Given the description of an element on the screen output the (x, y) to click on. 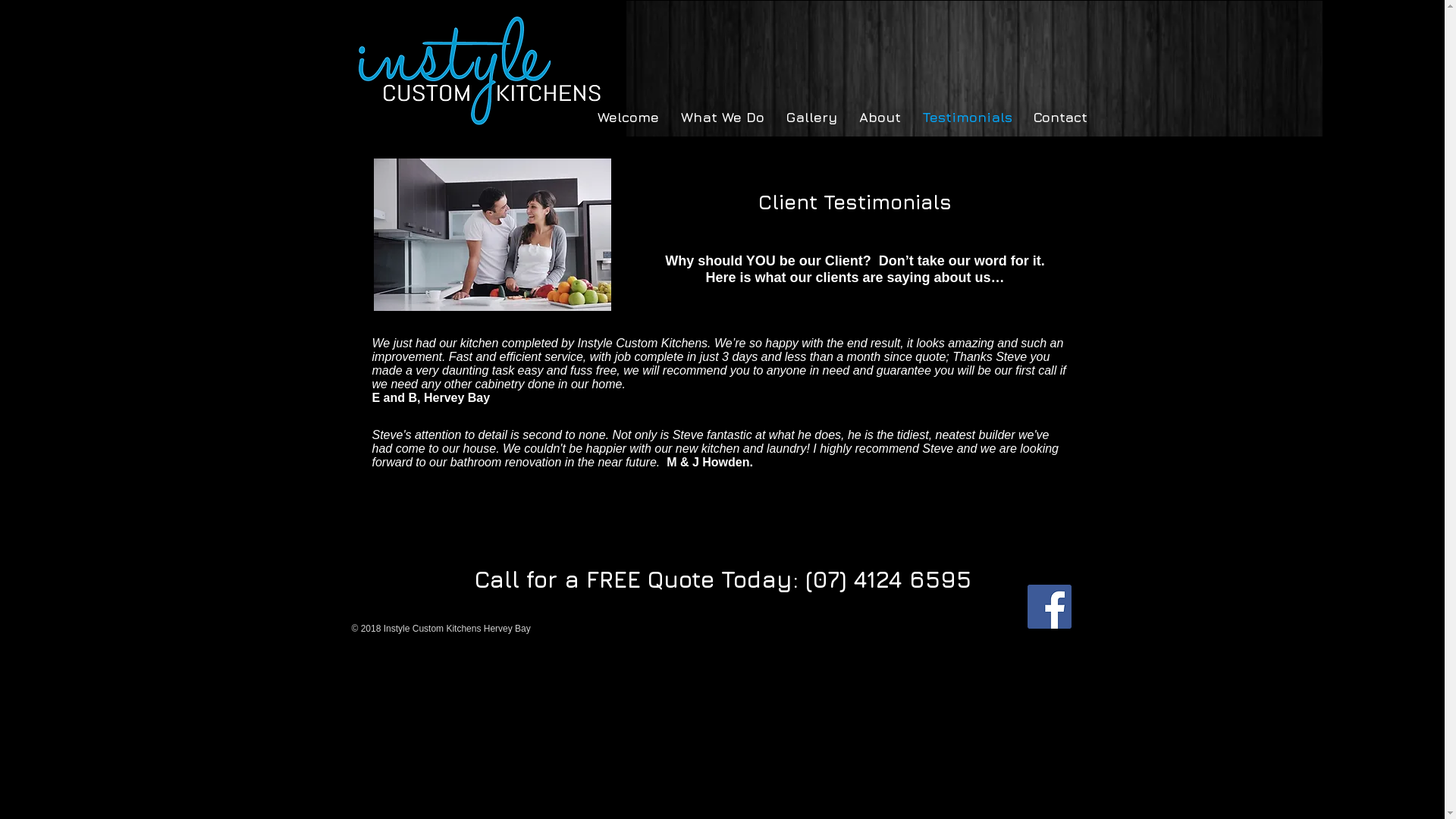
Contact Element type: text (1056, 116)
About Element type: text (876, 116)
What We Do Element type: text (718, 116)
Instyle Custom Kitchens Element type: hover (480, 68)
Gallery Element type: text (807, 116)
Welcome Element type: text (623, 116)
Testimonials Element type: text (963, 116)
